Given the description of an element on the screen output the (x, y) to click on. 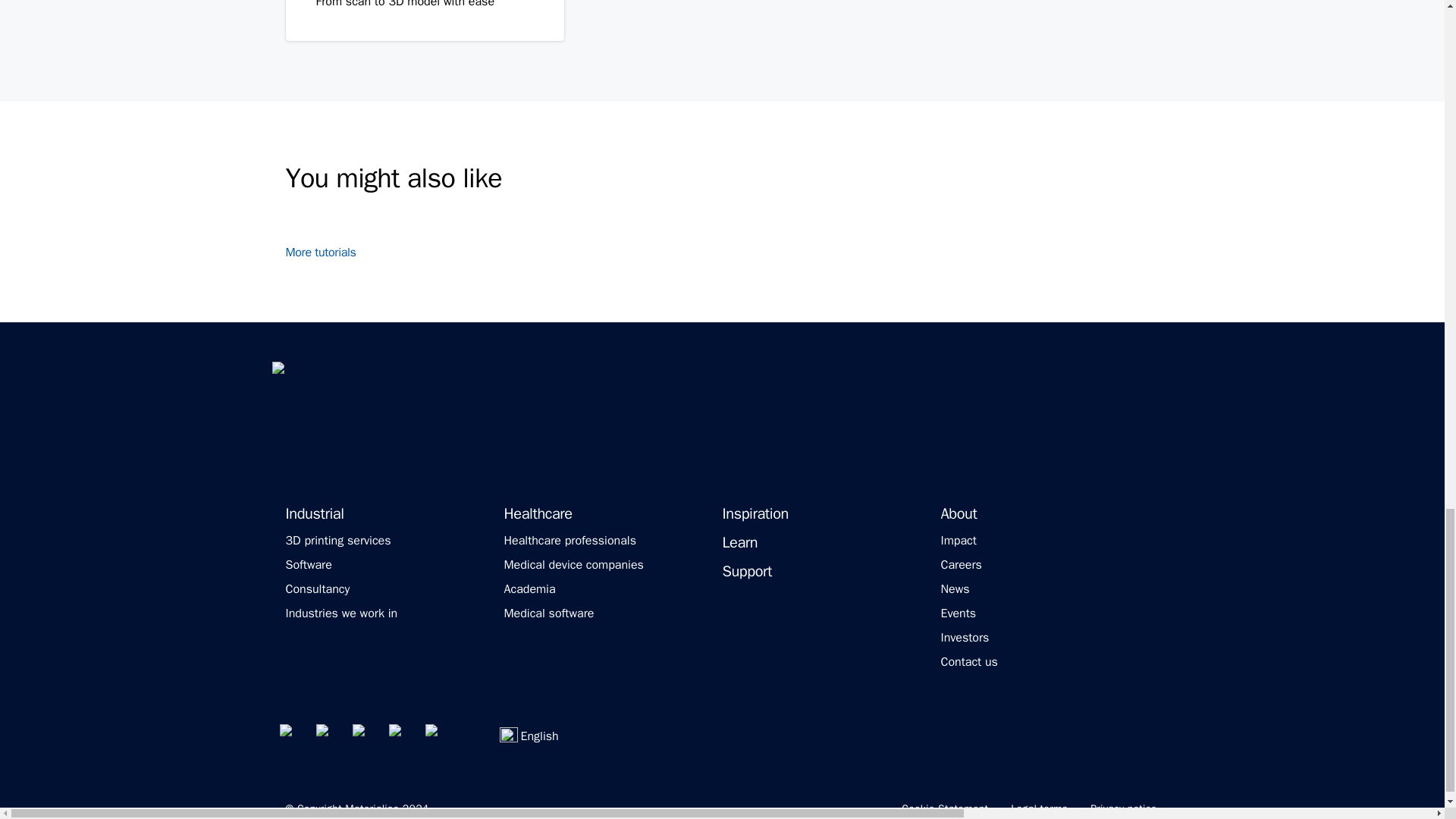
Medical software (548, 613)
Industries we work in (341, 613)
Academia (528, 589)
Impact (957, 540)
Healthcare (537, 514)
More tutorials (329, 252)
Learn (739, 543)
Software (308, 564)
Inspiration (754, 514)
Industrial (314, 514)
